Given the description of an element on the screen output the (x, y) to click on. 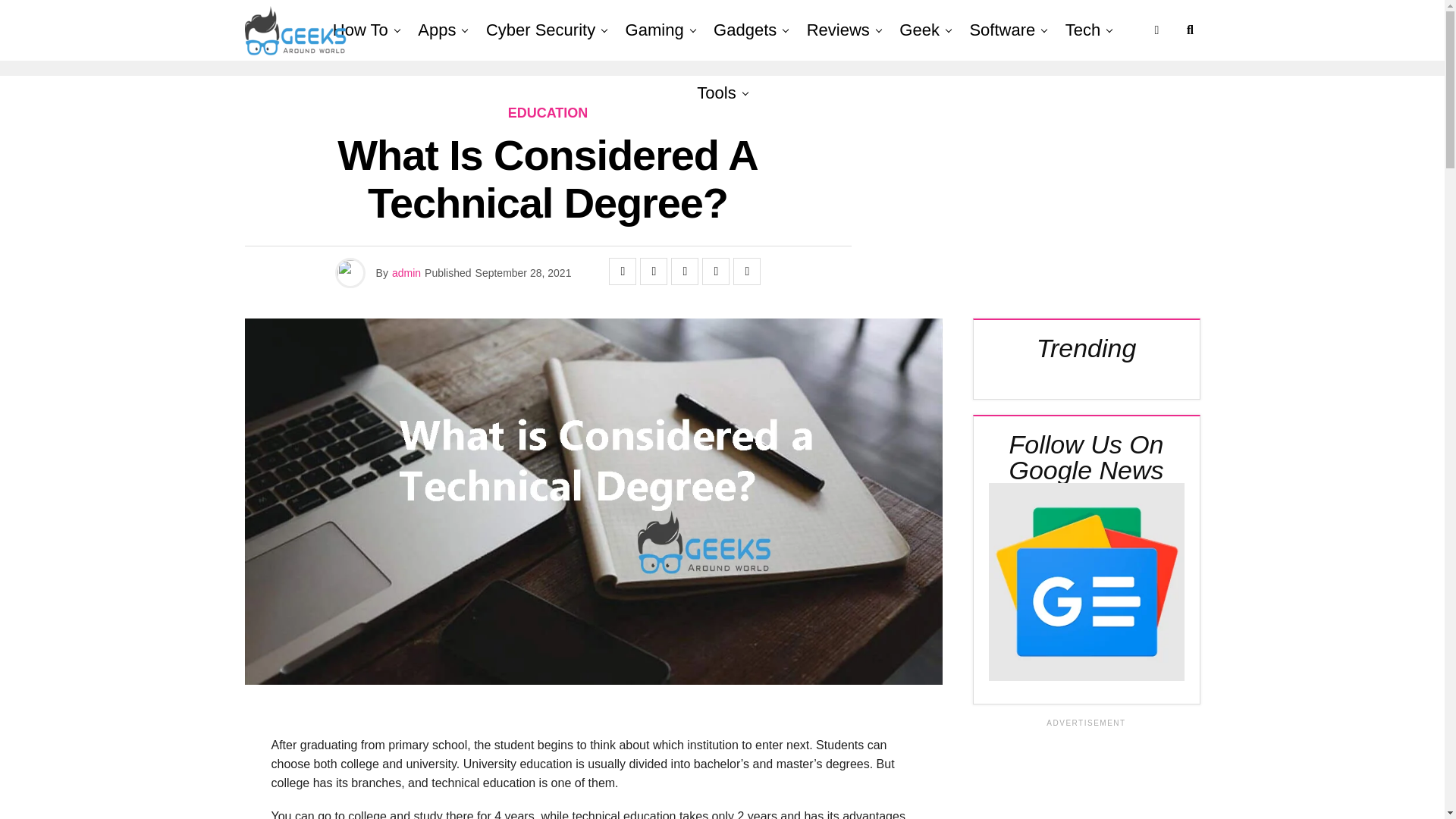
Gaming (654, 30)
How To (360, 30)
Share on Flipboard (684, 271)
Posts by admin (405, 272)
Tweet This Post (653, 271)
Cyber Security (540, 30)
Advertisement (1085, 774)
Share on Facebook (622, 271)
